Given the description of an element on the screen output the (x, y) to click on. 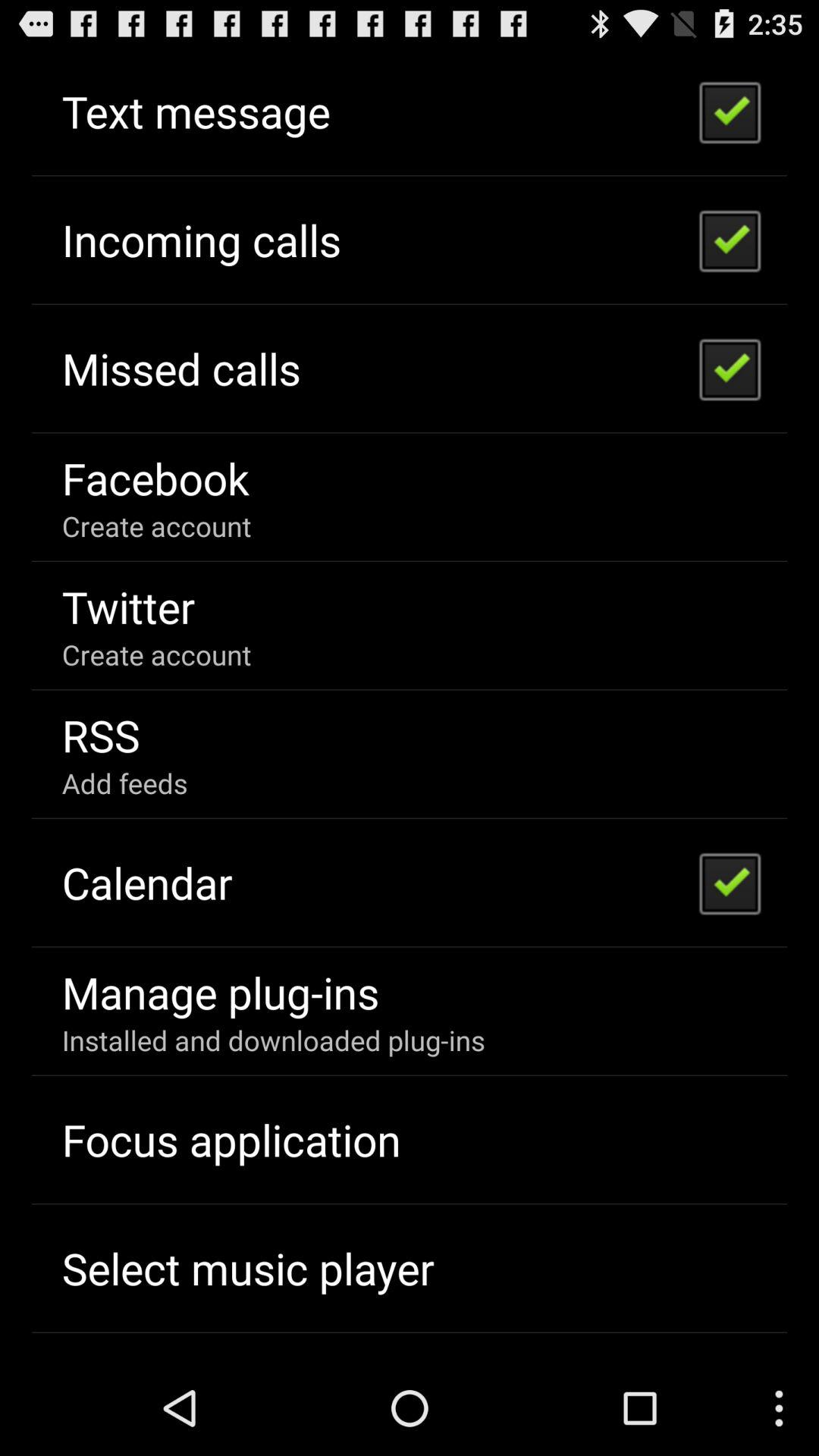
turn on add feeds item (124, 782)
